Given the description of an element on the screen output the (x, y) to click on. 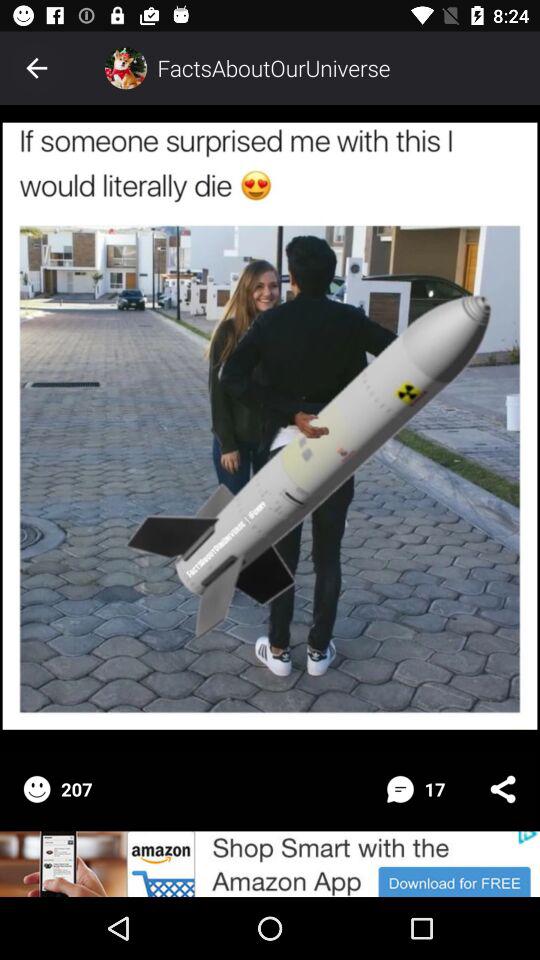
avatar (126, 68)
